Given the description of an element on the screen output the (x, y) to click on. 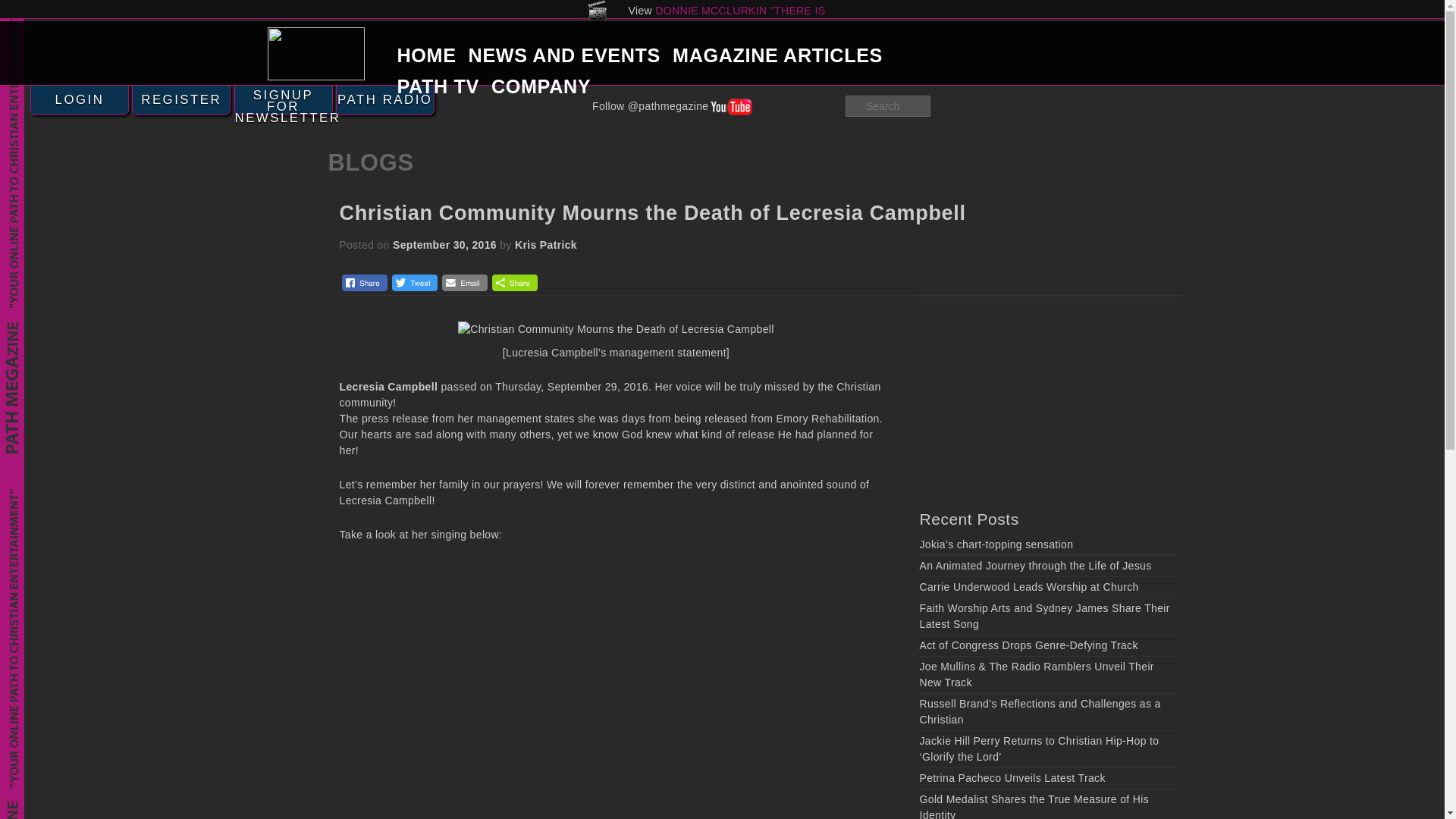
PATH TV (438, 86)
MAGAZINE ARTICLES (777, 55)
HOME (427, 55)
Advertisement (1032, 397)
DONNIE MCCLURKIN "THERE IS GOD" (740, 18)
NEWS AND EVENTS (564, 55)
View all posts by Kris Patrick (545, 244)
COMPANY (541, 86)
2:56 pm (444, 244)
